Given the description of an element on the screen output the (x, y) to click on. 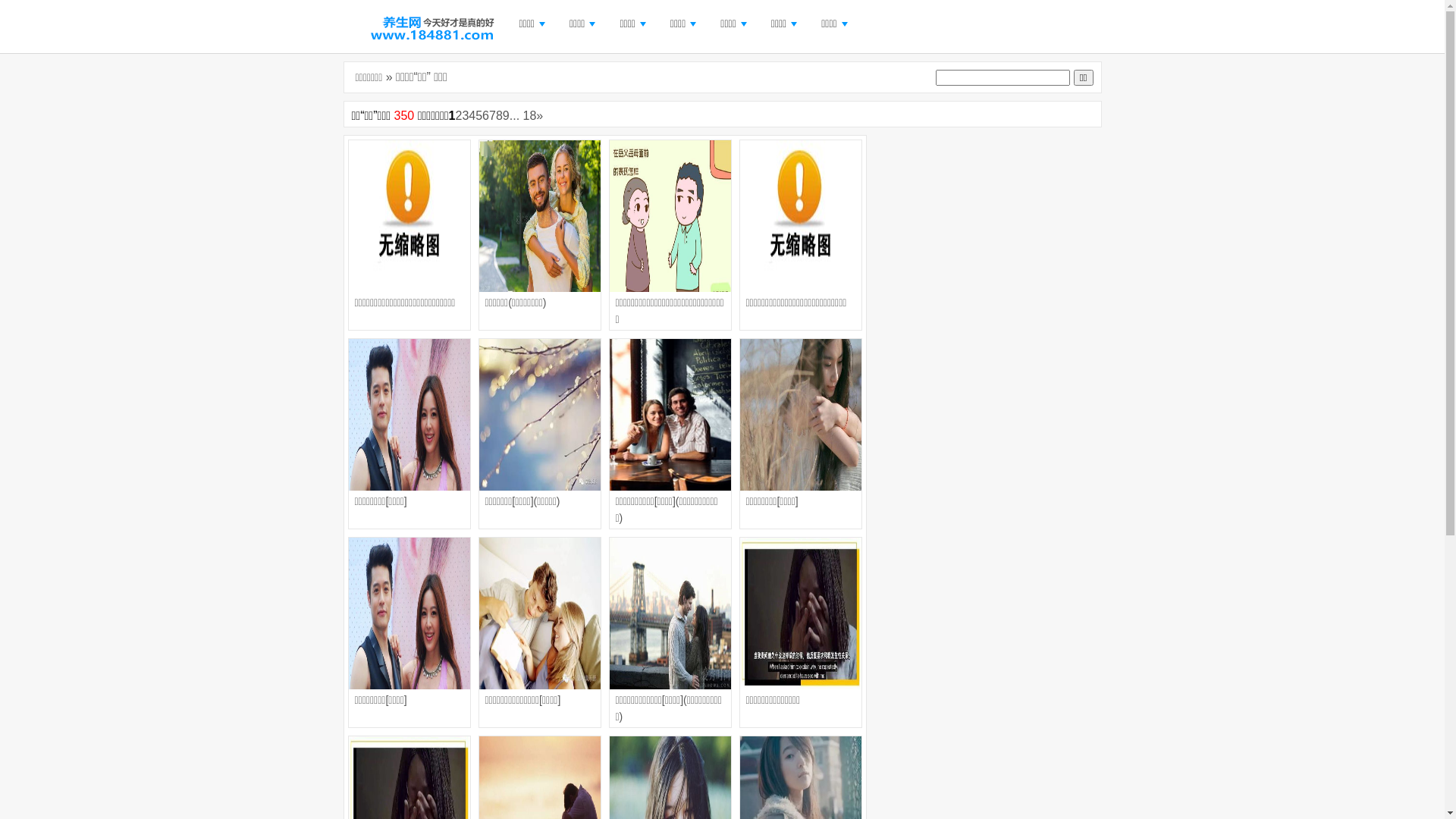
5 Element type: text (478, 115)
3 Element type: text (464, 115)
9 Element type: text (505, 115)
2 Element type: text (458, 115)
... 18 Element type: text (522, 115)
6 Element type: text (485, 115)
8 Element type: text (498, 115)
7 Element type: text (492, 115)
4 Element type: text (471, 115)
